Given the description of an element on the screen output the (x, y) to click on. 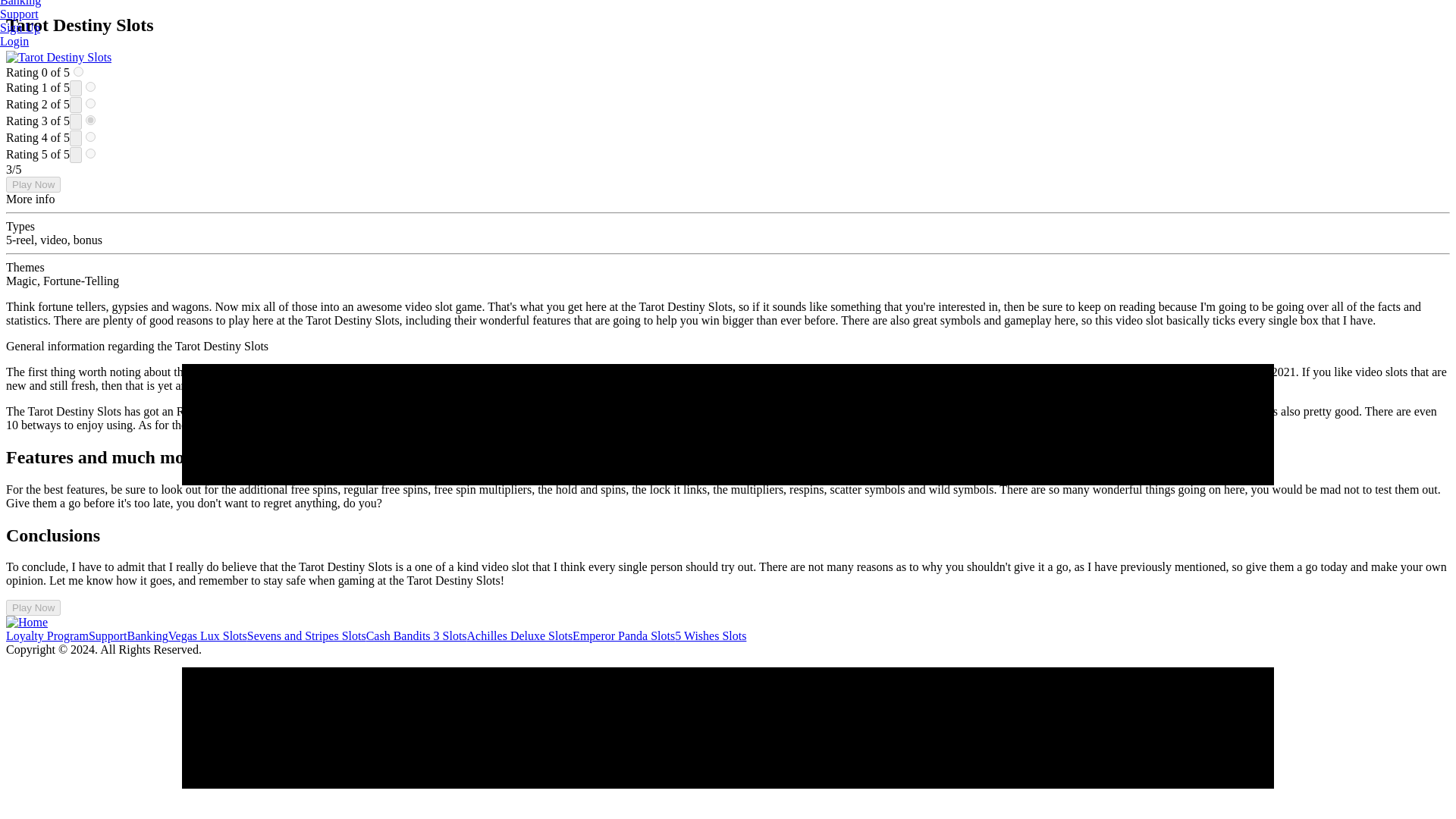
5 (90, 153)
1 (90, 86)
2 (90, 103)
3 (90, 120)
Play Now (33, 184)
0 (78, 71)
4 (90, 136)
Play Now (33, 607)
